Given the description of an element on the screen output the (x, y) to click on. 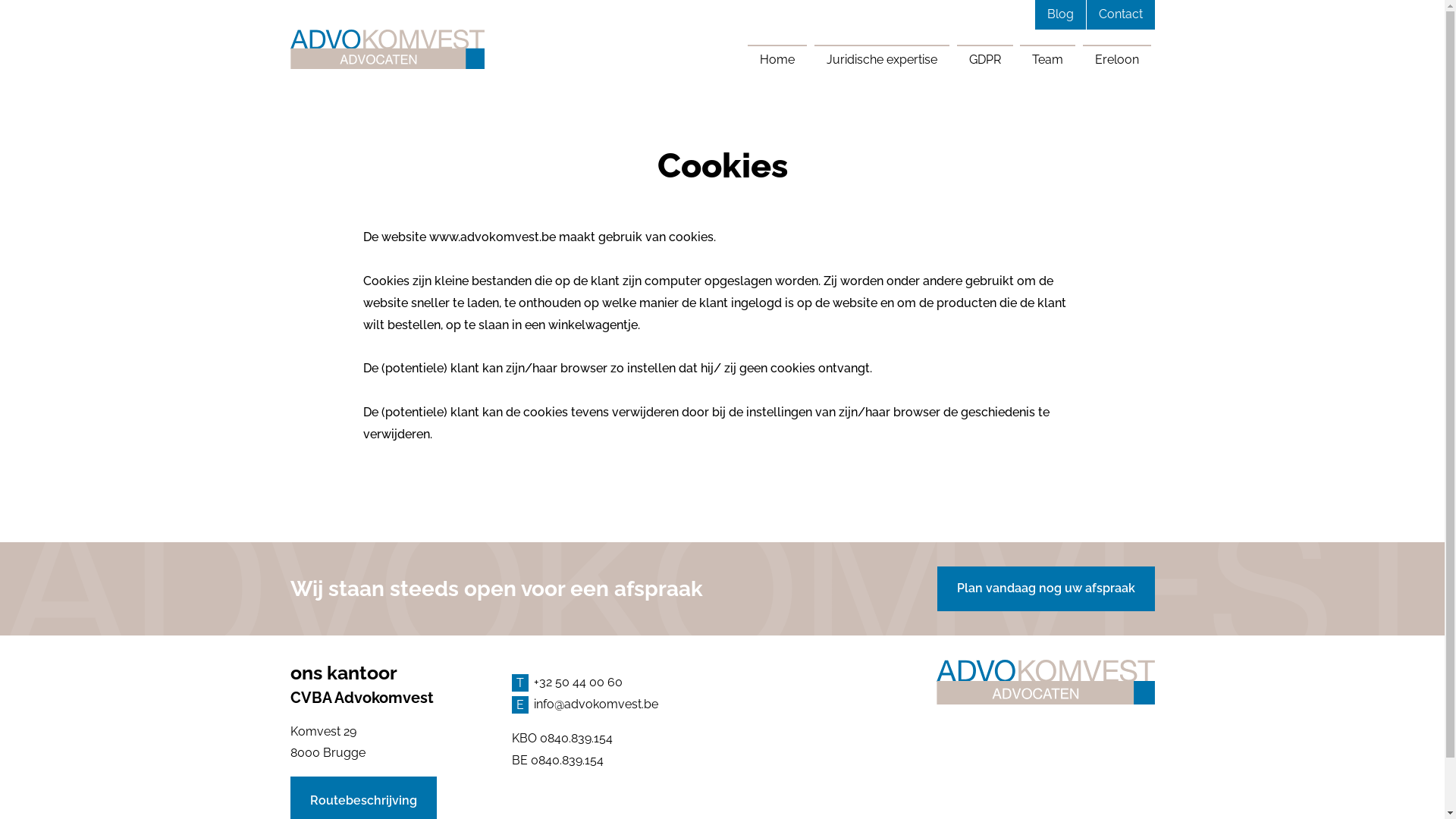
Plan vandaag nog uw afspraak Element type: text (1045, 588)
Team Element type: text (1047, 58)
Ereloon Element type: text (1116, 58)
Home Element type: text (776, 58)
Blog Element type: text (1059, 14)
+32 50 44 00 60 Element type: text (611, 682)
Contact Element type: text (1119, 14)
GDPR Element type: text (985, 58)
info@advokomvest.be Element type: text (611, 704)
Juridische expertise Element type: text (881, 58)
